Given the description of an element on the screen output the (x, y) to click on. 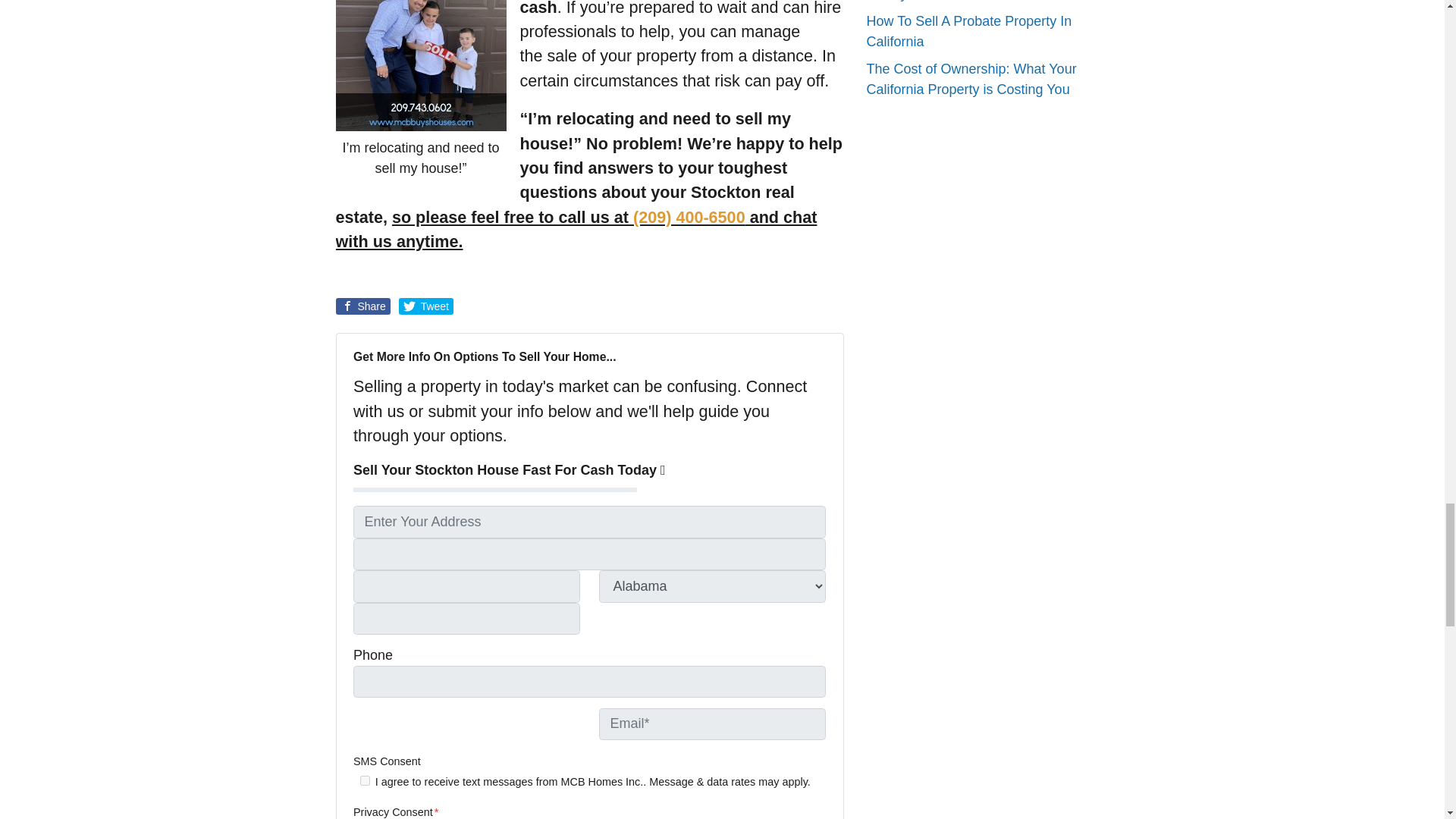
Share on Facebook (362, 306)
Share (362, 306)
Tweet (425, 306)
Share on Twitter (425, 306)
